Given the description of an element on the screen output the (x, y) to click on. 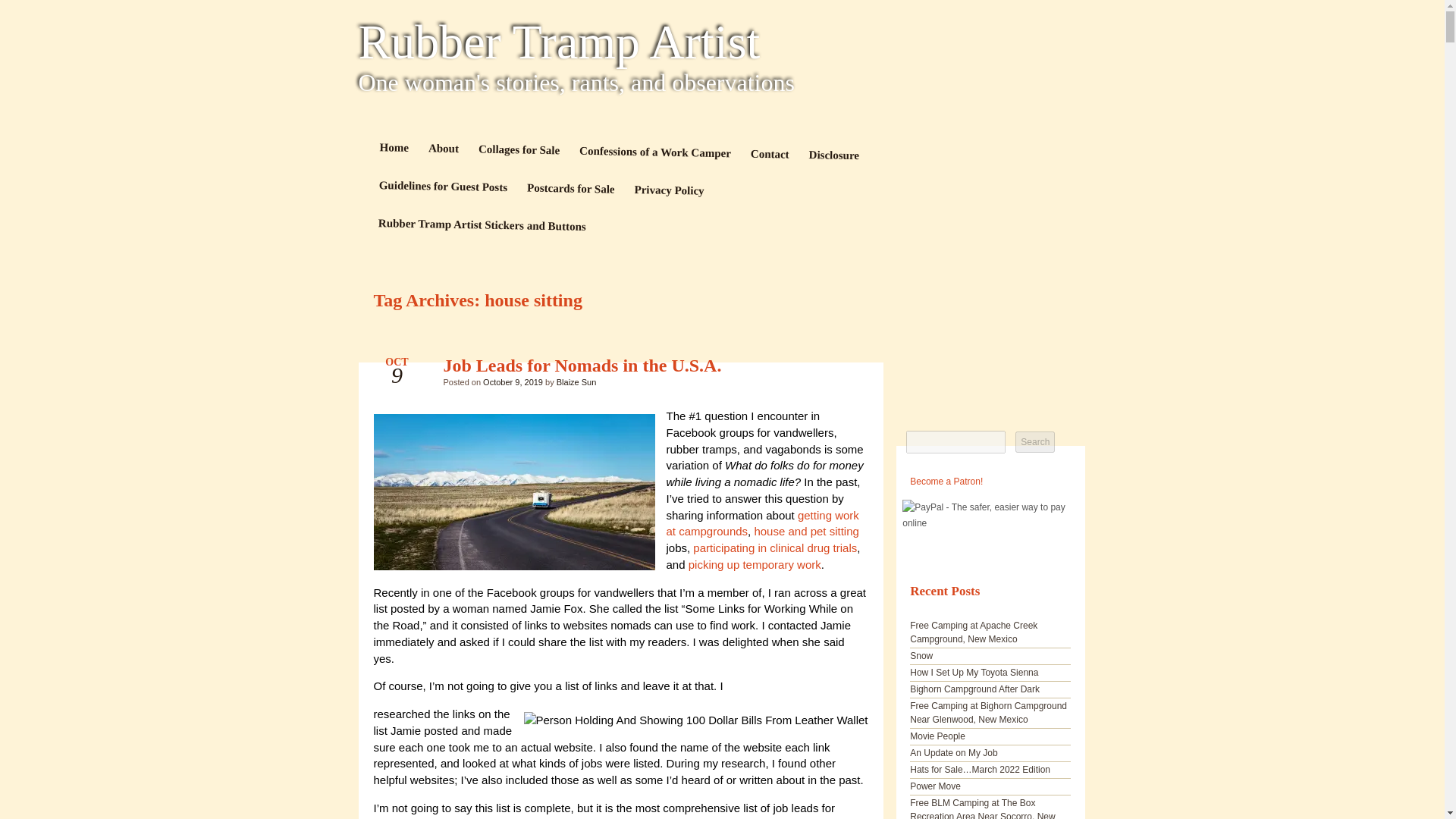
Postcards for Sale (570, 189)
October 9, 2019 (513, 381)
participating in clinical drug trials (775, 547)
Standard (843, 369)
Rubber Tramp Artist (722, 42)
Confessions of a Work Camper (654, 152)
Home (393, 149)
Privacy Policy (668, 191)
All Standard posts (843, 369)
getting work at campgrounds (762, 522)
